Given the description of an element on the screen output the (x, y) to click on. 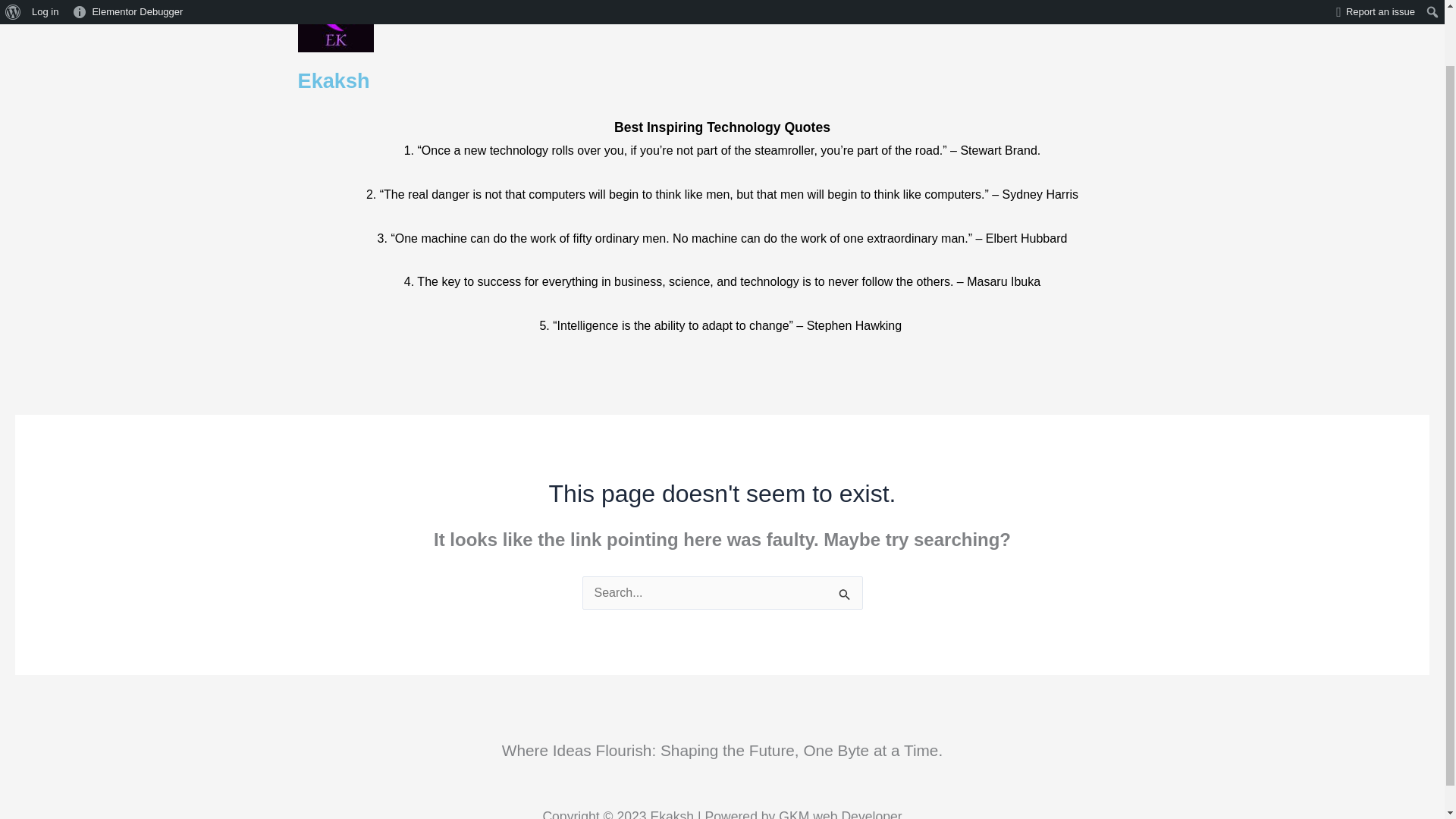
Deep into Thoughts (679, 5)
Ekaksh (333, 80)
Contact Us (875, 5)
My Blog (789, 5)
HOME (573, 5)
Search (1091, 7)
